Given the description of an element on the screen output the (x, y) to click on. 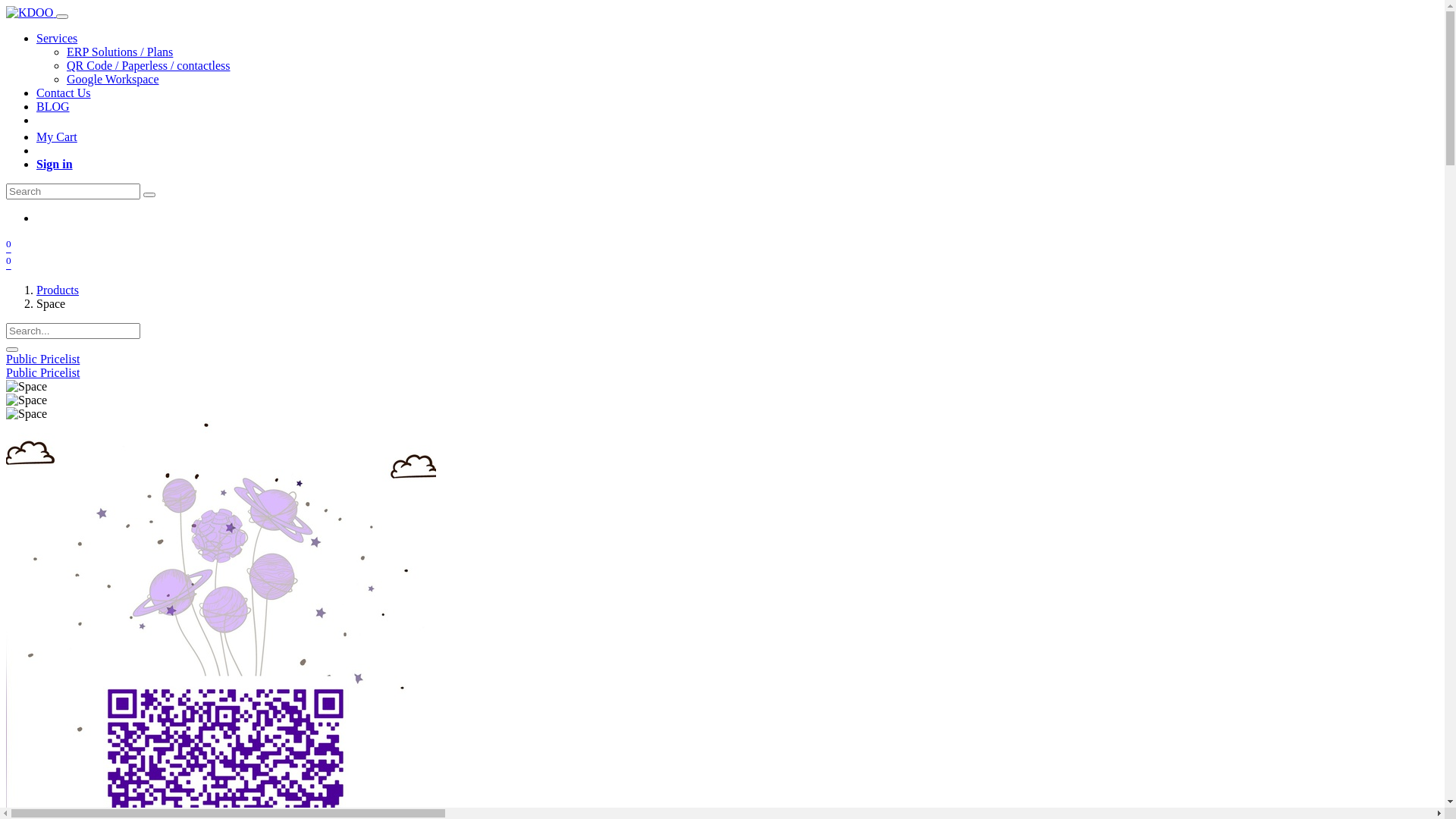
Search Element type: hover (12, 349)
0 Element type: text (8, 247)
BLOG Element type: text (52, 106)
My Cart Element type: text (56, 136)
Public Pricelist Element type: text (42, 358)
QR Code / Paperless / contactless Element type: text (148, 65)
ERP Solutions / Plans Element type: text (119, 51)
KDOO Element type: hover (29, 12)
Public Pricelist Element type: text (42, 372)
0 Element type: text (8, 263)
Sign in Element type: text (54, 163)
Google Workspace Element type: text (112, 78)
Services Element type: text (56, 37)
Products Element type: text (57, 289)
Contact Us Element type: text (63, 92)
